Given the description of an element on the screen output the (x, y) to click on. 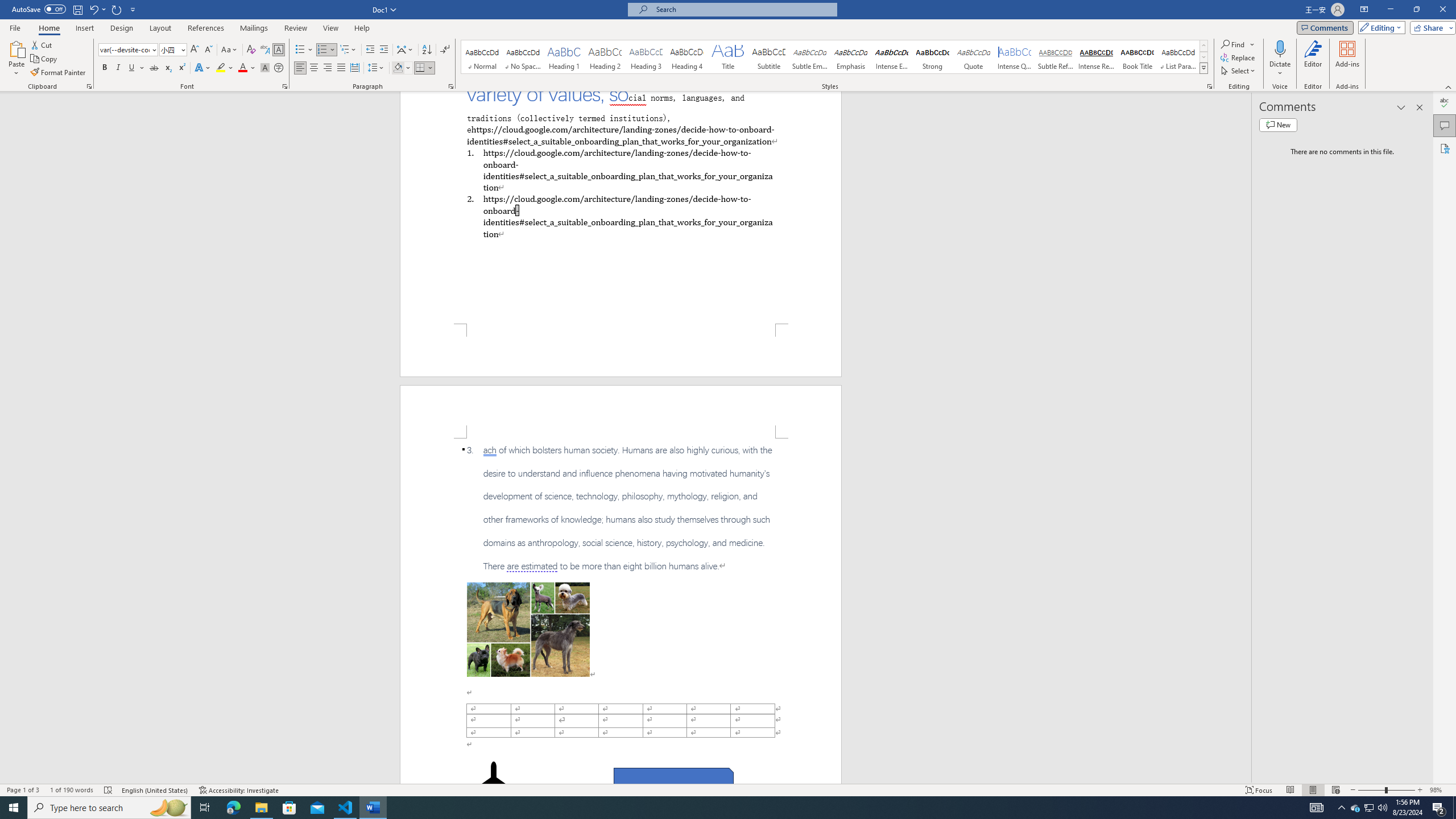
Repeat Border Bottom (117, 9)
Intense Reference (1095, 56)
Shading (402, 67)
Replace... (1237, 56)
Undo Border Bottom (92, 9)
Show/Hide Editing Marks (444, 49)
Row up (1203, 45)
Subtle Reference (1055, 56)
Center (313, 67)
Open (182, 49)
